Given the description of an element on the screen output the (x, y) to click on. 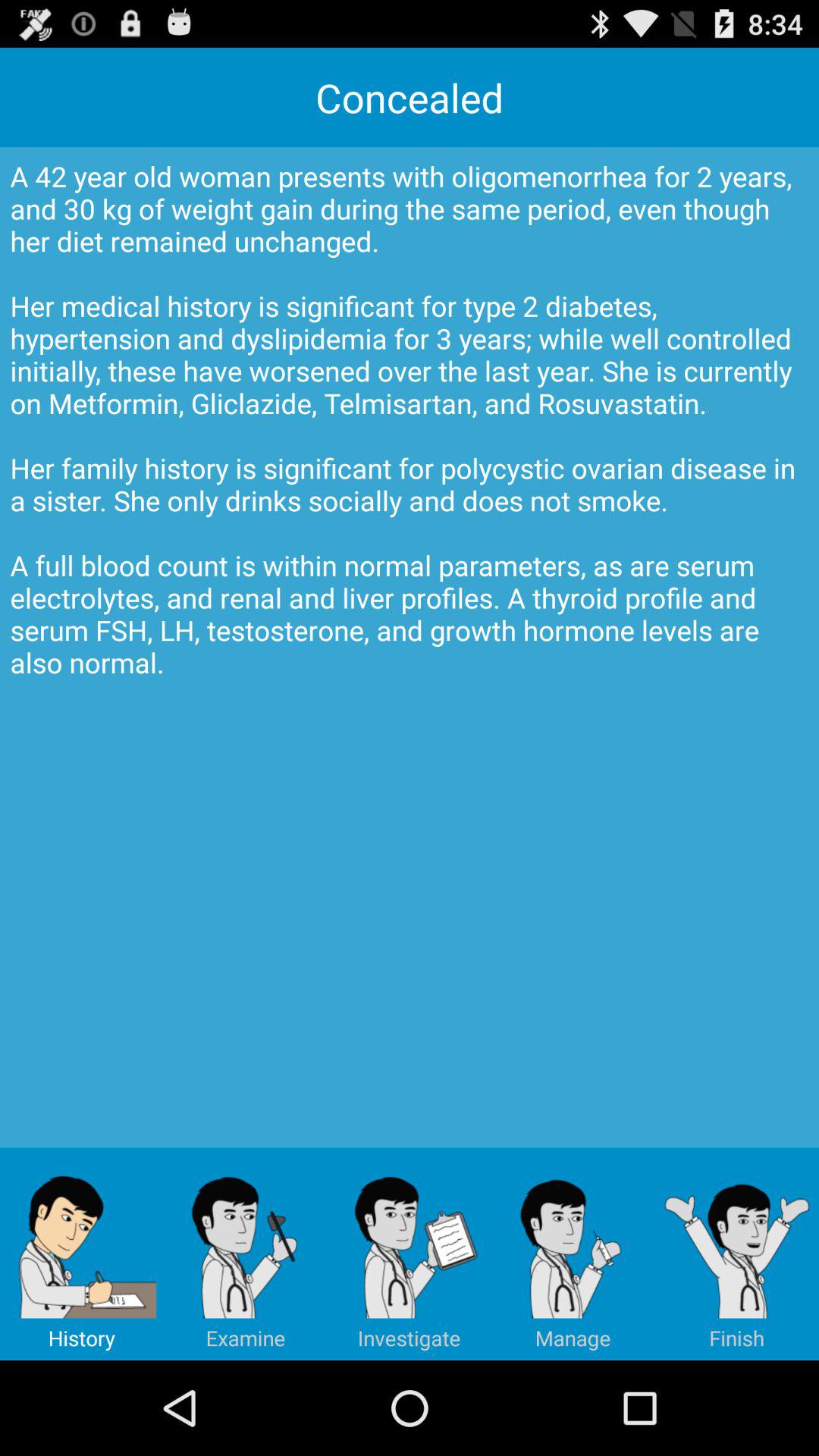
scroll to the a 42 year item (409, 647)
